Given the description of an element on the screen output the (x, y) to click on. 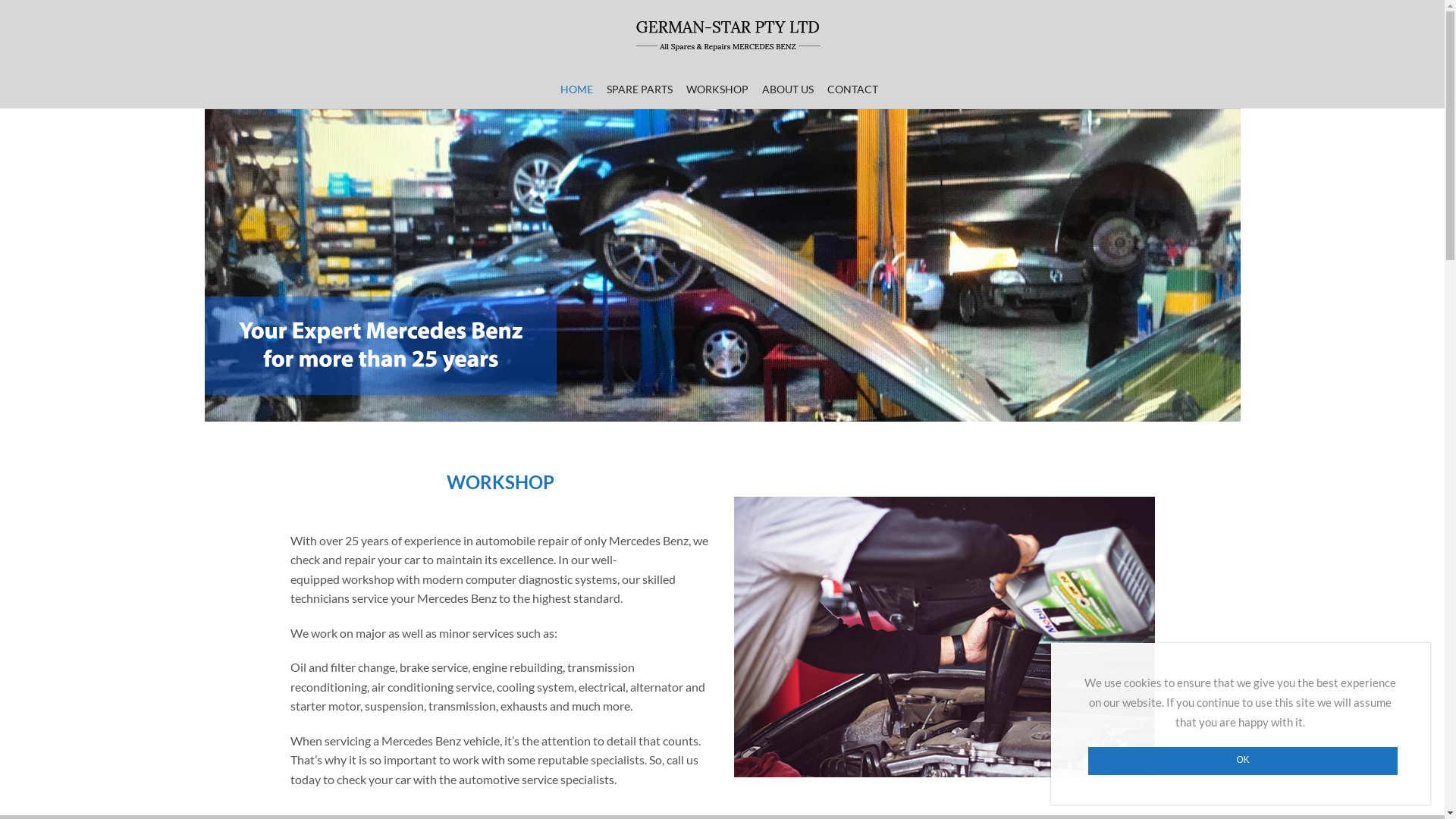
WORKSHOP Element type: text (717, 89)
SPARE PARTS Element type: text (639, 89)
CONTACT Element type: text (853, 89)
OK Element type: text (1243, 760)
HOME Element type: text (579, 89)
ABOUT US Element type: text (787, 89)
